Given the description of an element on the screen output the (x, y) to click on. 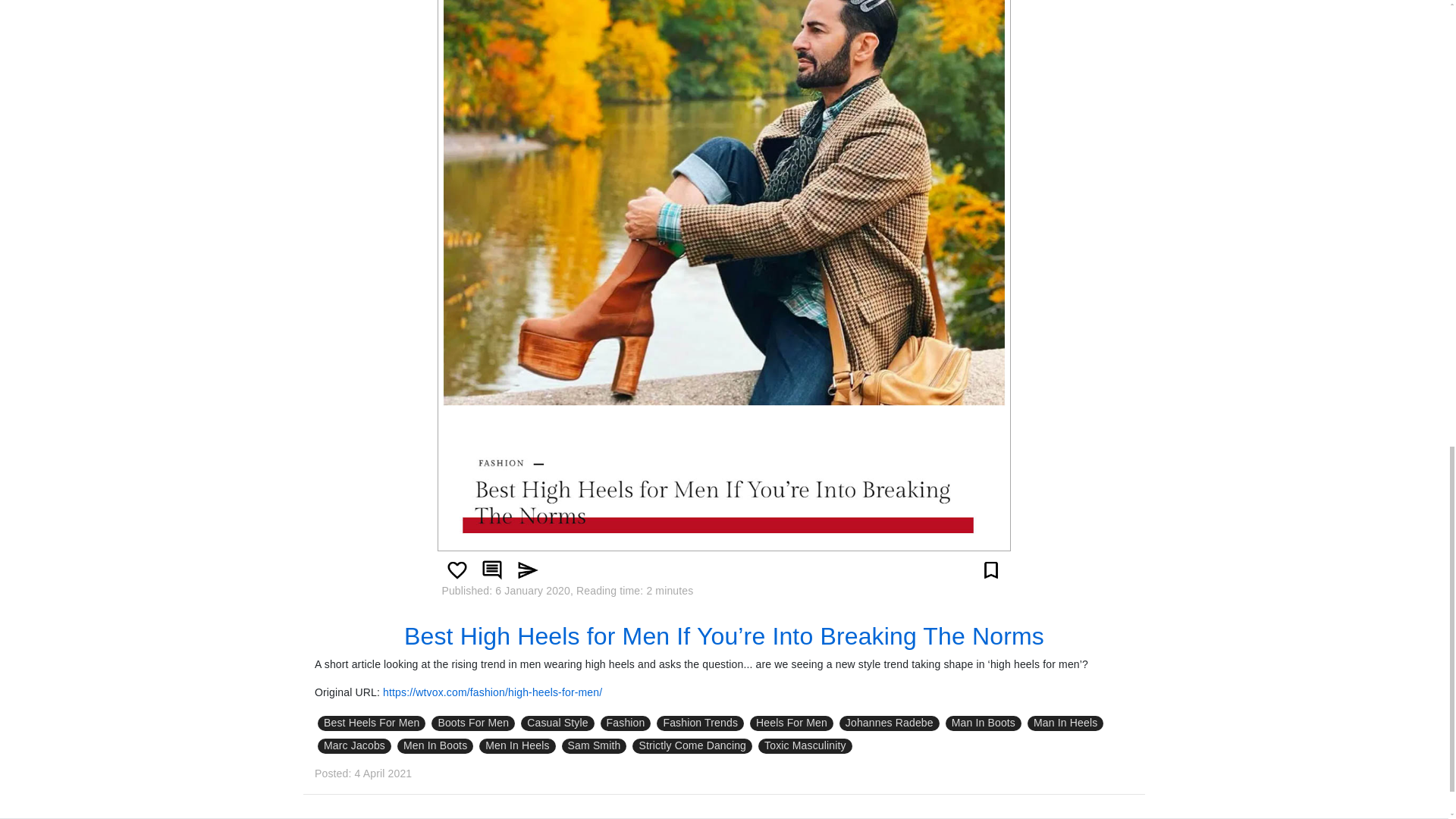
Share on Instagram (526, 569)
Comment on Instagram (491, 569)
Save on Instagram (991, 569)
Like on Instagram (456, 569)
